Given the description of an element on the screen output the (x, y) to click on. 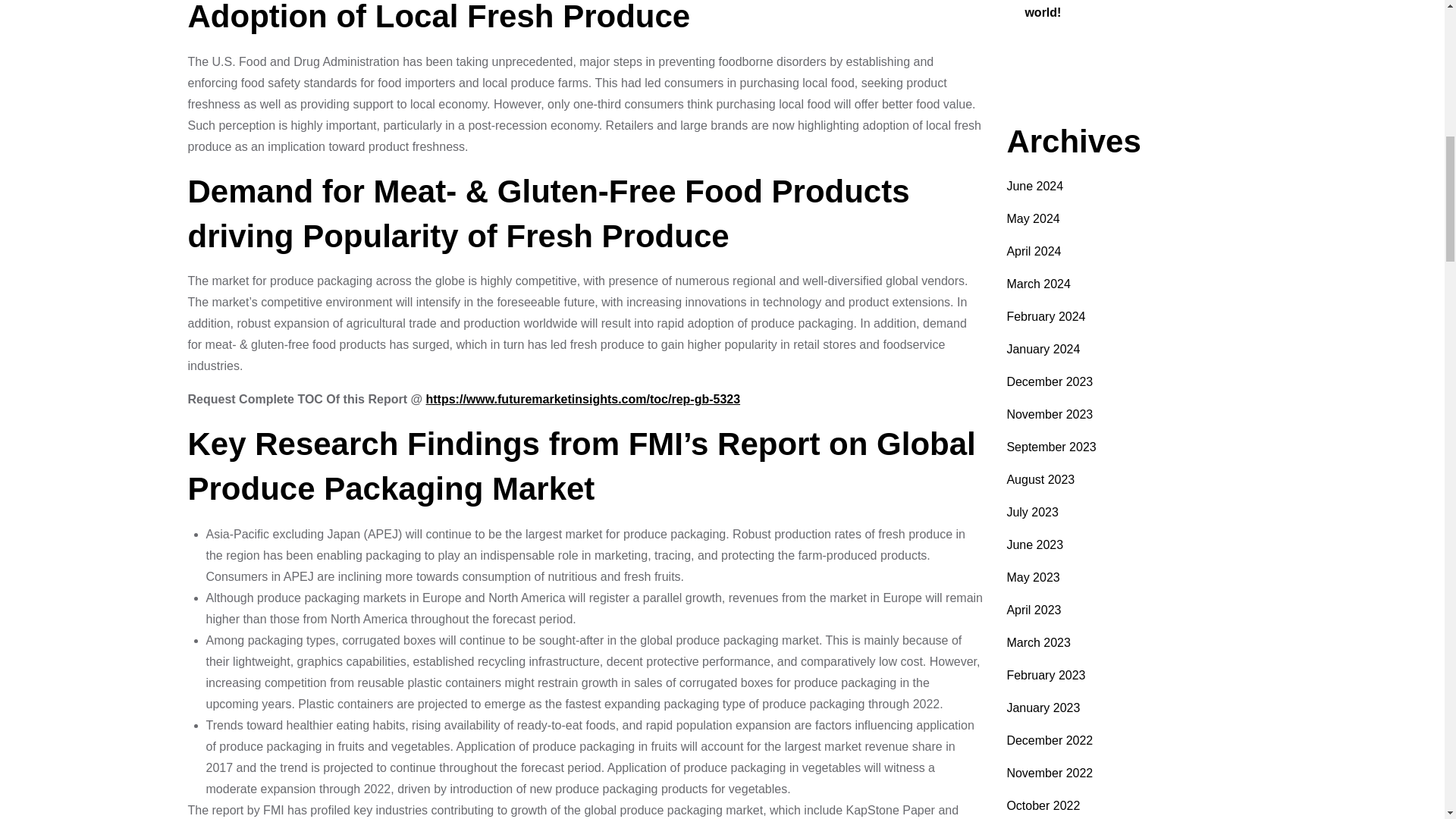
Hello world! (1123, 9)
June 2024 (1034, 185)
November 2023 (1049, 413)
May 2024 (1032, 218)
May 2023 (1032, 576)
March 2024 (1038, 283)
September 2023 (1051, 446)
April 2024 (1033, 250)
June 2023 (1034, 544)
February 2024 (1045, 316)
July 2023 (1032, 512)
August 2023 (1040, 479)
January 2024 (1043, 349)
December 2023 (1049, 381)
